Given the description of an element on the screen output the (x, y) to click on. 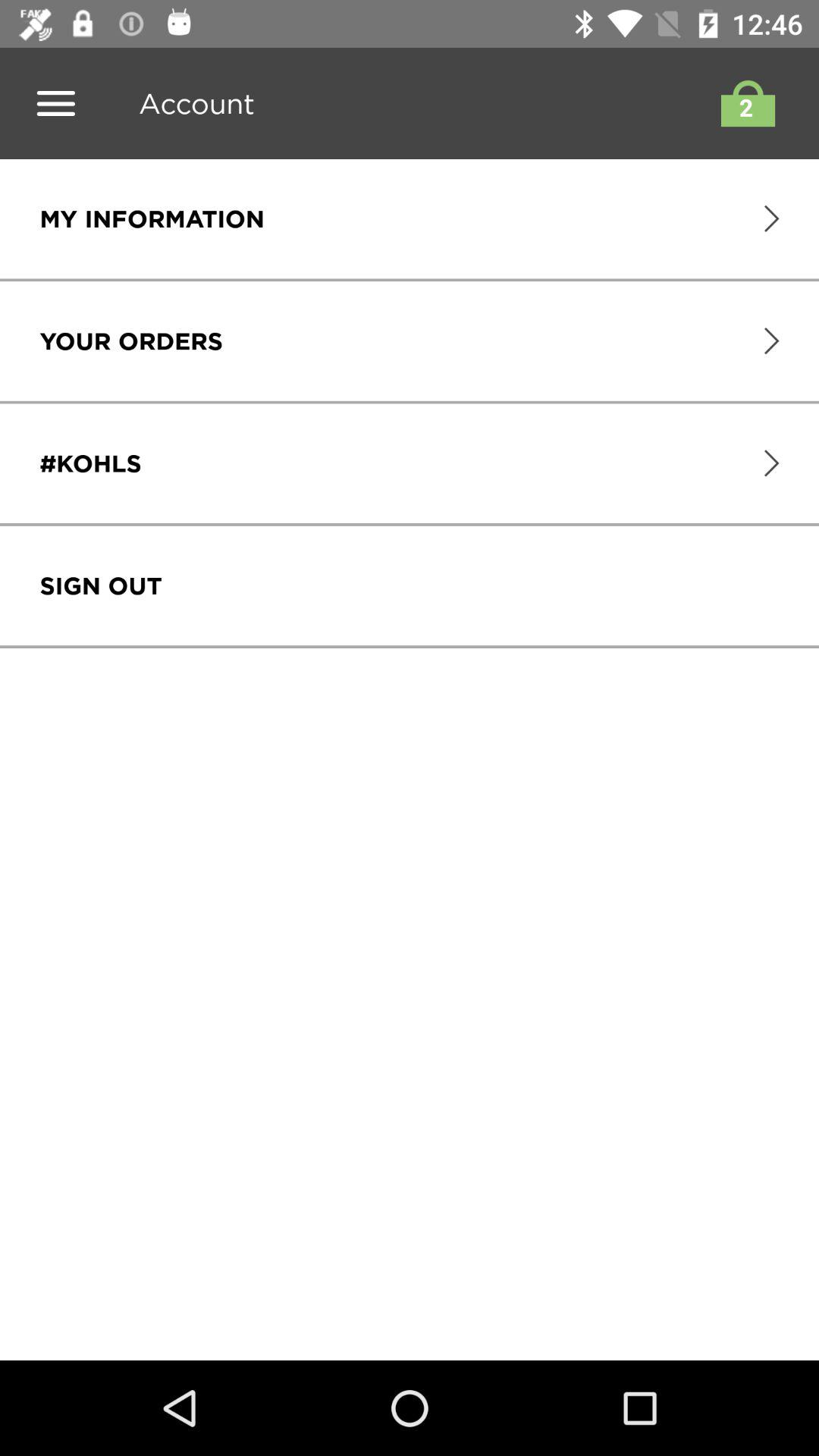
turn on item below the your orders icon (90, 463)
